Given the description of an element on the screen output the (x, y) to click on. 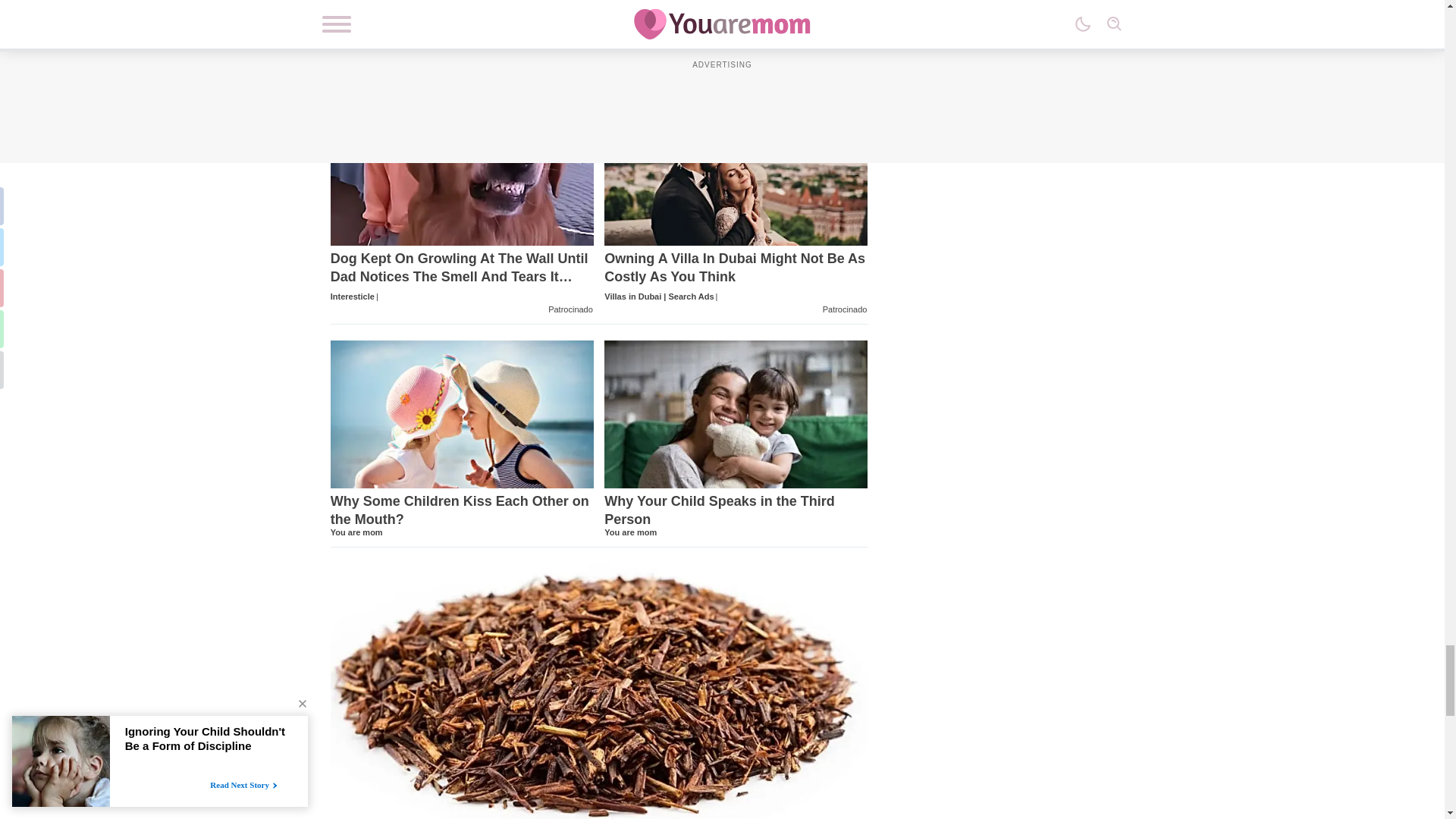
Patrocinado (570, 309)
Patrocinado (844, 309)
Owning A Villa In Dubai Might Not Be As Costly As You Think (735, 277)
Onychomadesis in Children: What You Should Know (598, 35)
Owning A Villa In Dubai Might Not Be As Costly As You Think (735, 170)
